Given the description of an element on the screen output the (x, y) to click on. 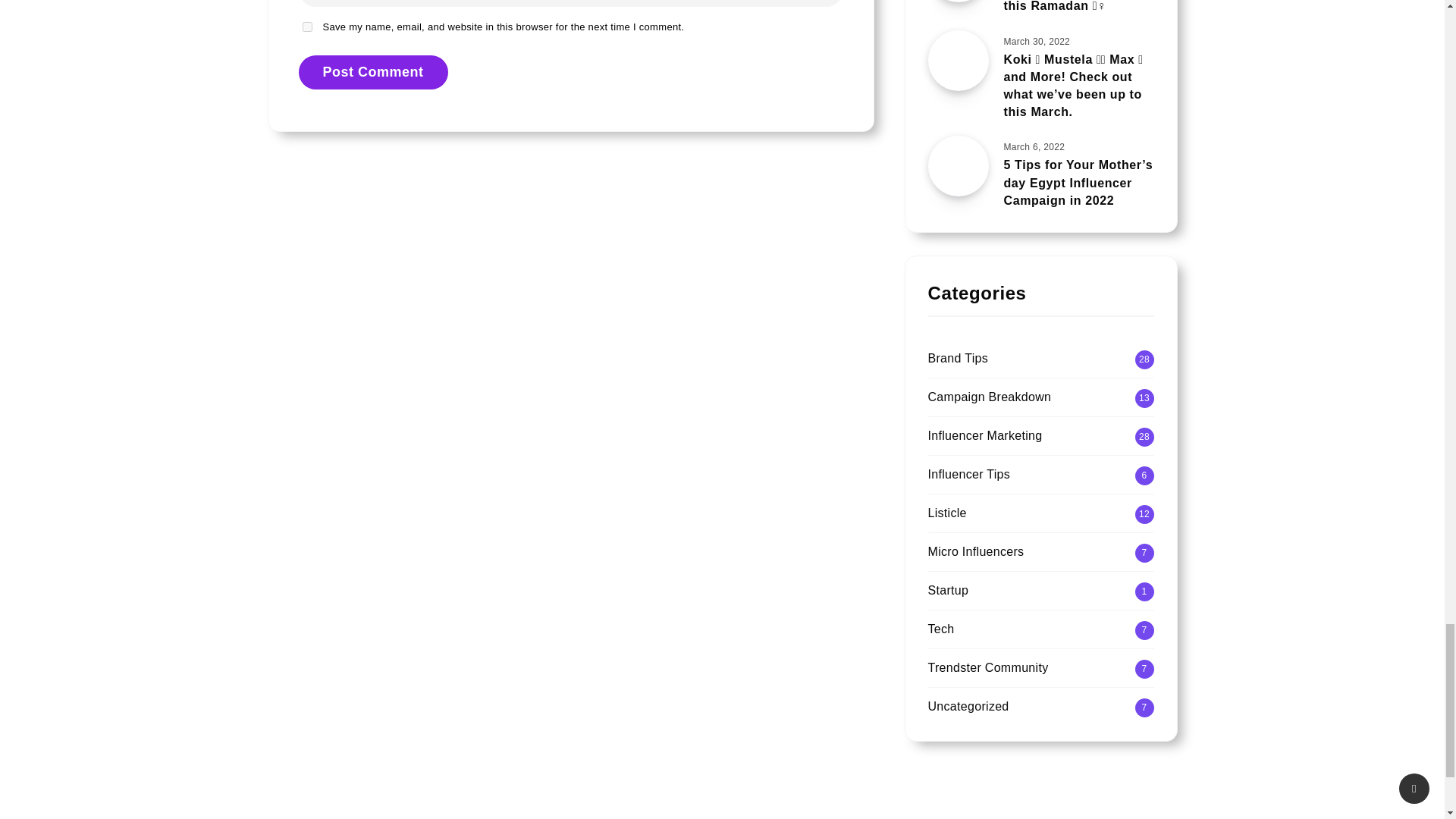
Post Comment (373, 72)
yes (306, 26)
Post Comment (373, 72)
